Given the description of an element on the screen output the (x, y) to click on. 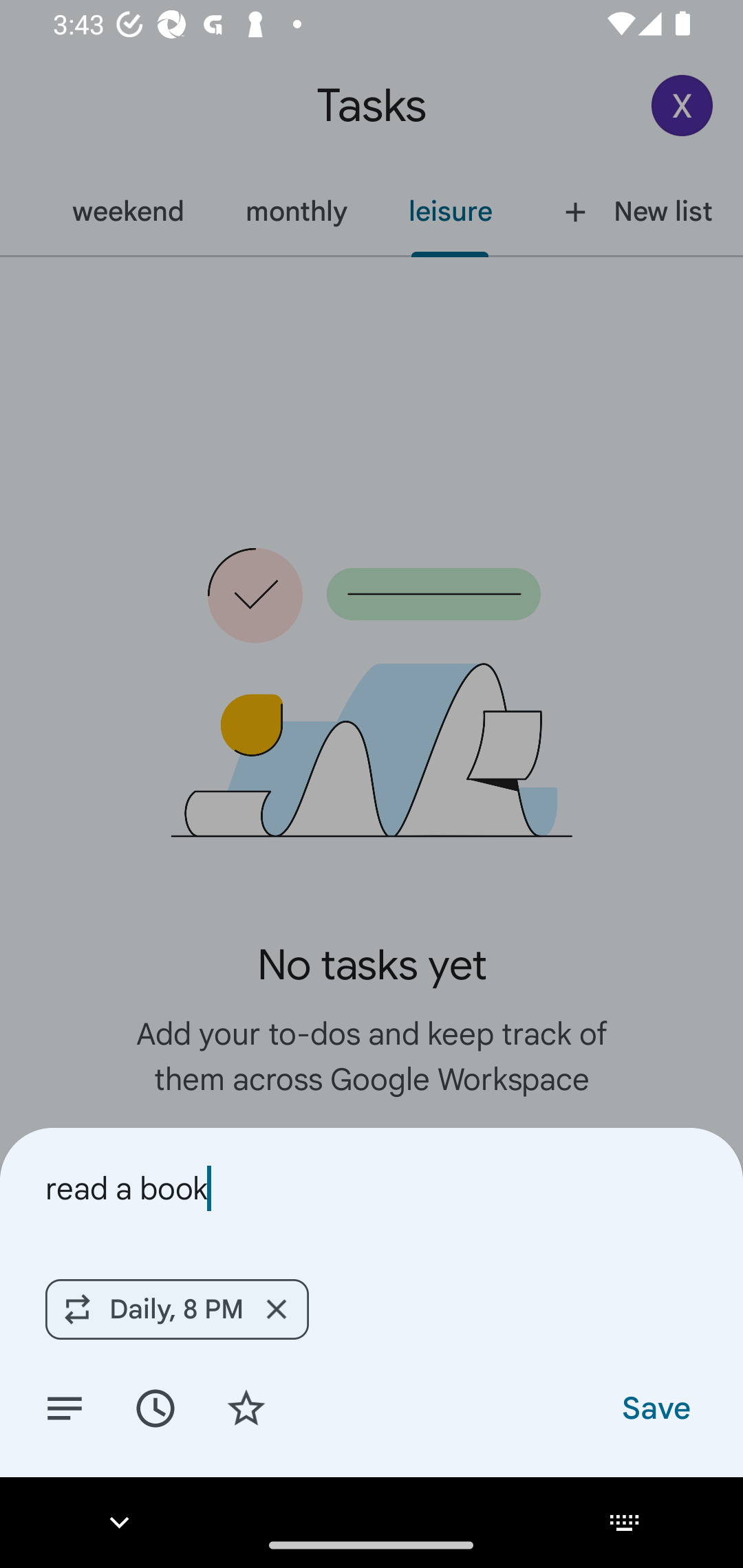
read a book (371, 1188)
Daily, 8 PM Remove Daily, 8 PM (177, 1308)
Save (655, 1407)
Add details (64, 1407)
Set date/time (154, 1407)
Add star (245, 1407)
